Given the description of an element on the screen output the (x, y) to click on. 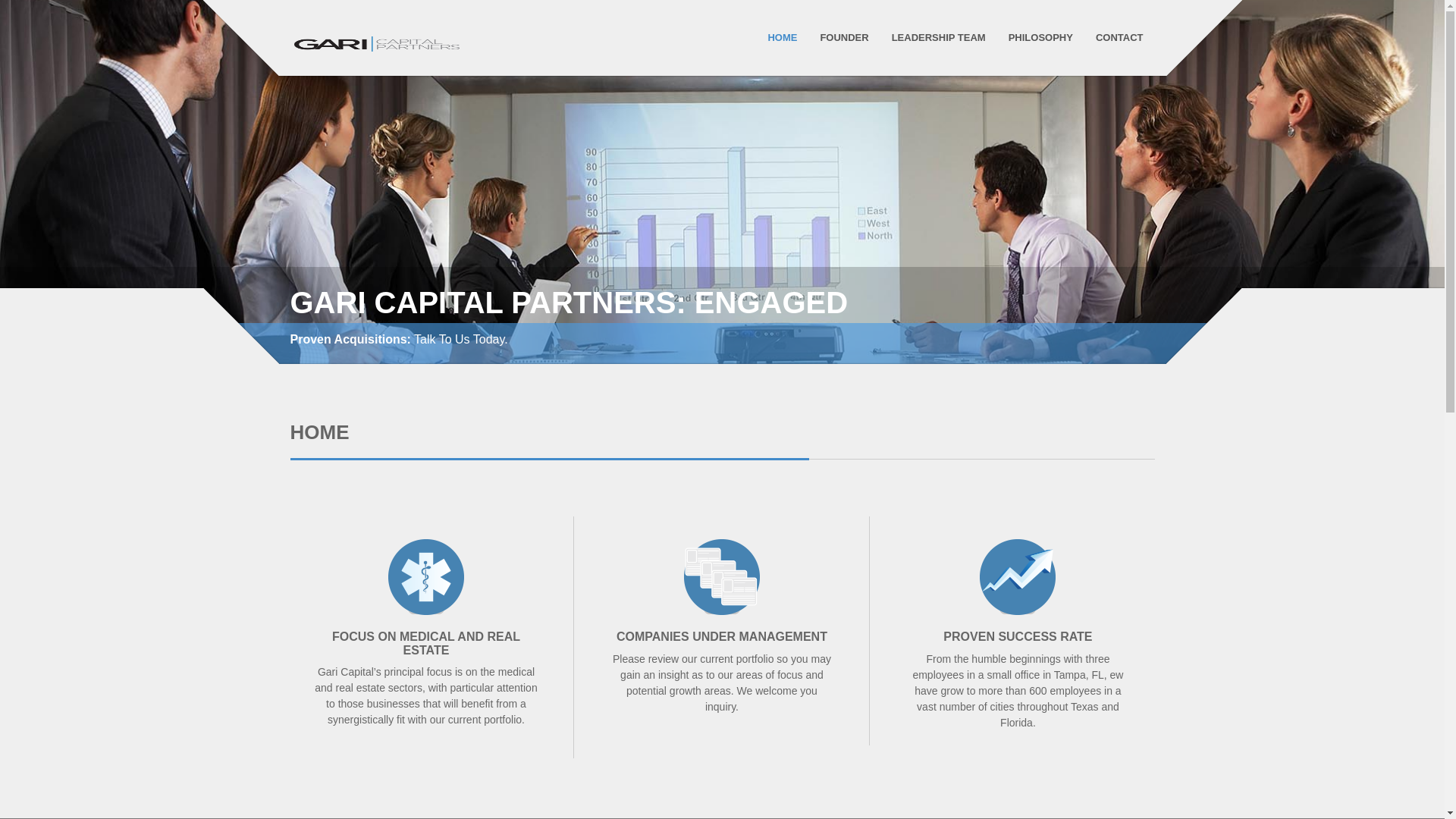
LEADERSHIP TEAM (938, 38)
CONTACT (1119, 38)
Philosophy (1039, 38)
CONTACT (1119, 38)
HOME (782, 38)
PHILOSOPHY (1039, 38)
FOUNDER (843, 38)
Leadership Team (938, 38)
Founder (843, 38)
Home (782, 38)
